Given the description of an element on the screen output the (x, y) to click on. 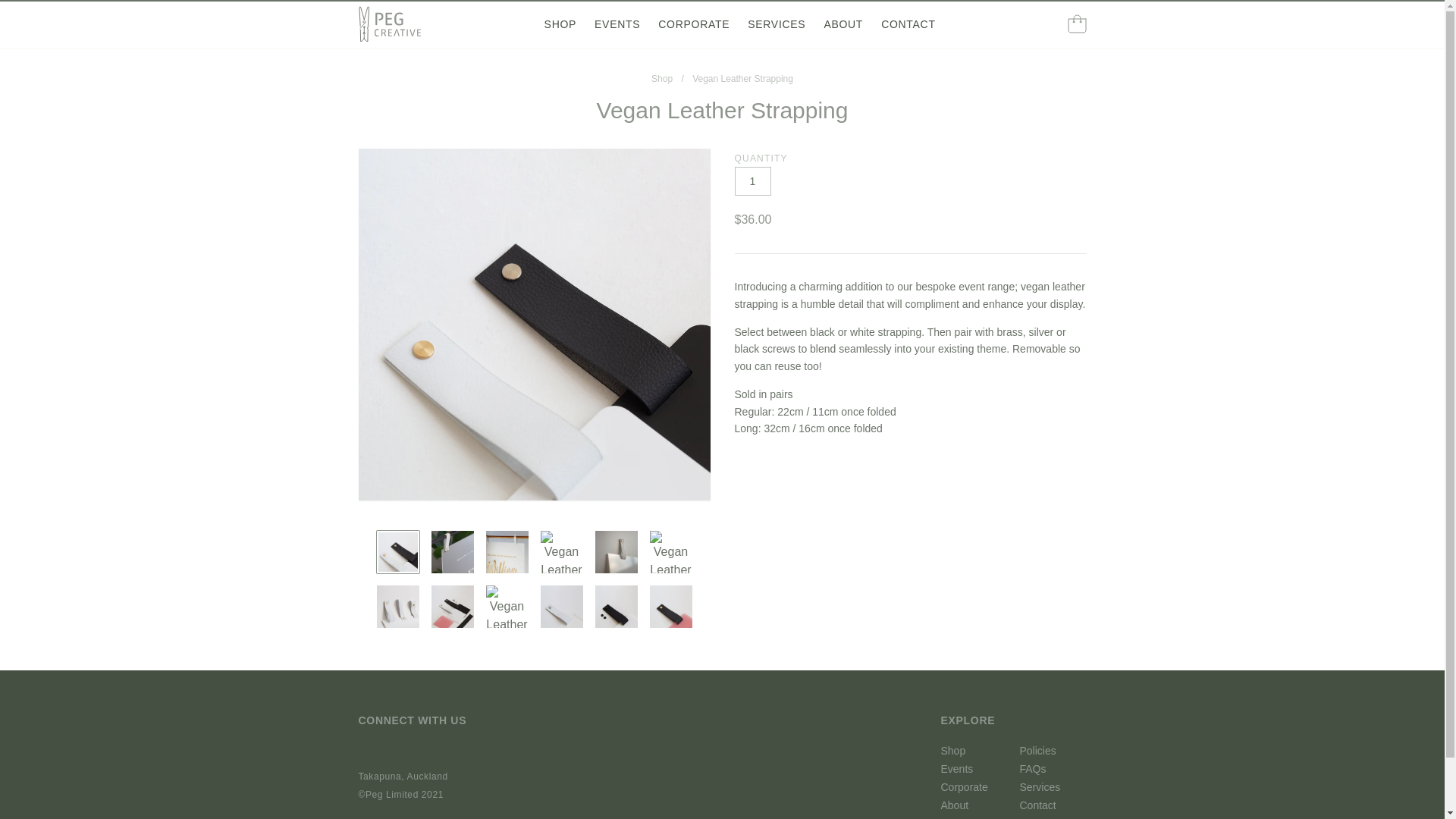
1 (751, 181)
CORPORATE (693, 24)
Shop (661, 78)
Vegan Leather Strapping (743, 78)
SERVICES (776, 24)
CONTACT (908, 24)
EVENTS (617, 24)
SHOP (560, 24)
ABOUT (843, 24)
